Given the description of an element on the screen output the (x, y) to click on. 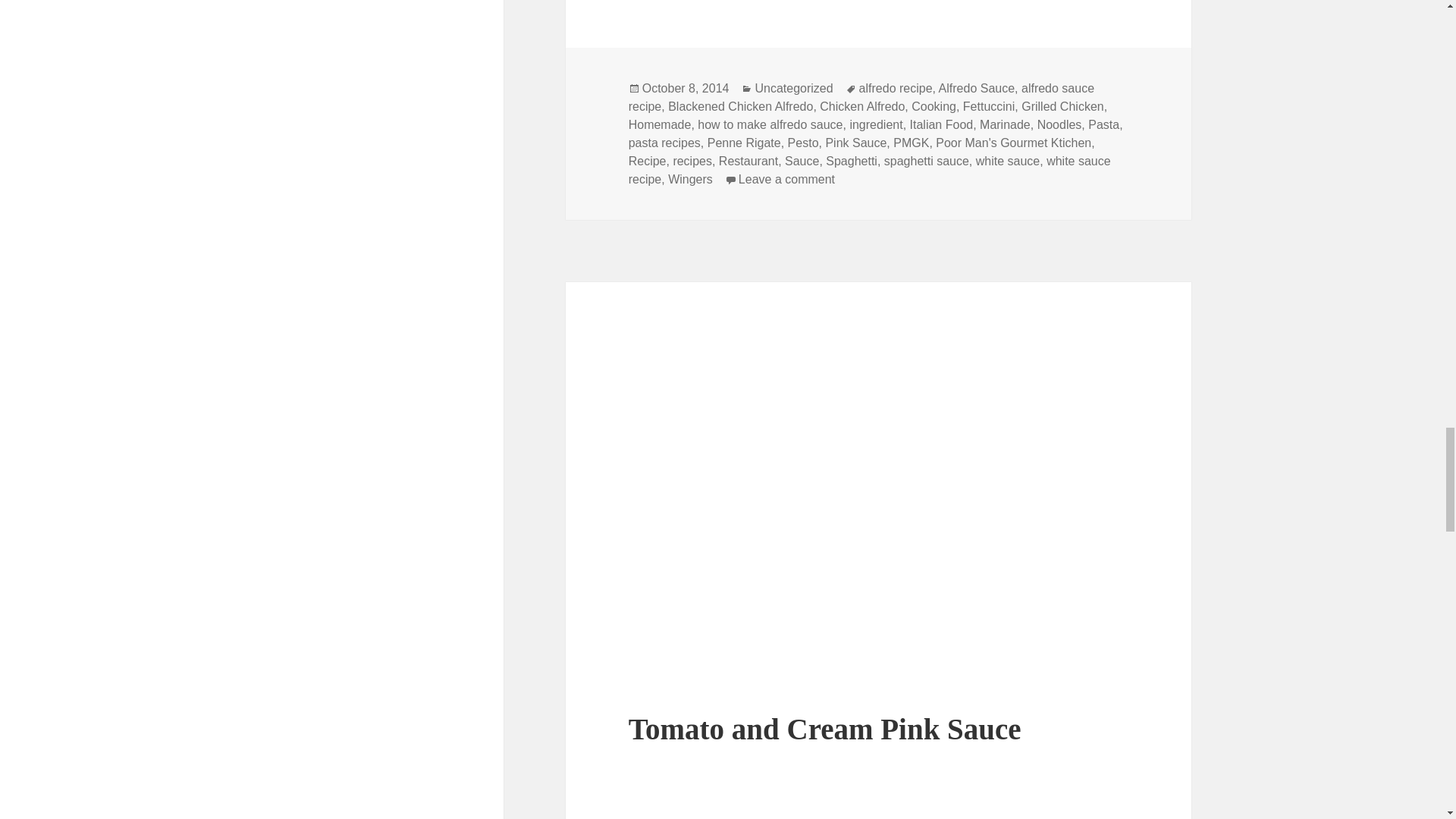
Blackened Chicken Alfredo (740, 106)
Fettuccini (988, 106)
Alfredo Sauce (976, 88)
alfredo recipe (896, 88)
Homemade (659, 124)
Grilled Chicken (1062, 106)
Marinade (1004, 124)
Pasta (1103, 124)
ingredient (875, 124)
pasta recipes (664, 142)
Noodles (1058, 124)
Uncategorized (793, 88)
Cooking (933, 106)
how to make alfredo sauce (770, 124)
alfredo sauce recipe (861, 97)
